Given the description of an element on the screen output the (x, y) to click on. 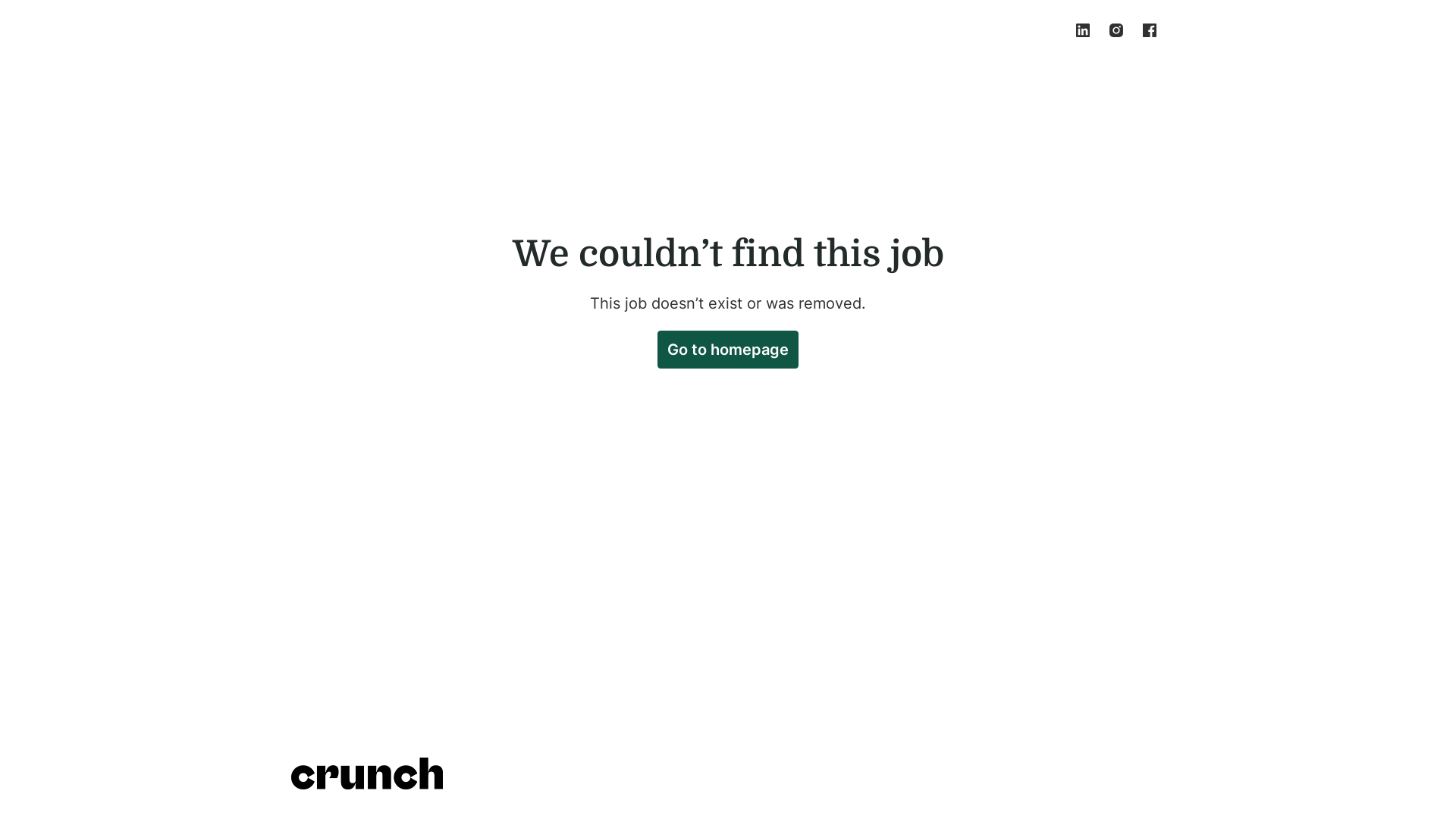
linkedin Element type: hover (1082, 30)
instagram Element type: hover (1116, 30)
Go to homepage Element type: text (727, 349)
facebook Element type: hover (1149, 30)
